Given the description of an element on the screen output the (x, y) to click on. 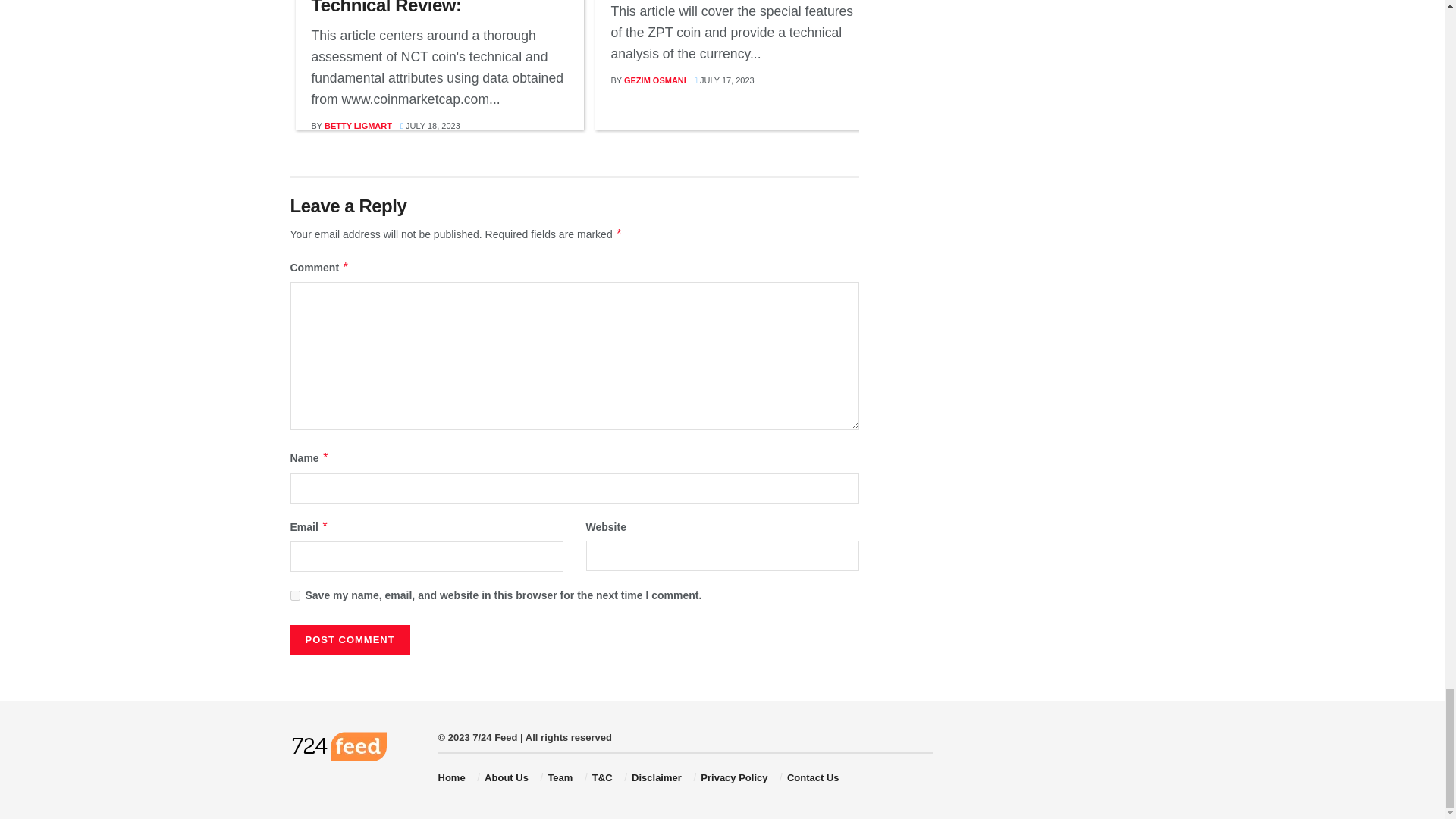
yes (294, 595)
Post Comment (349, 639)
